Given the description of an element on the screen output the (x, y) to click on. 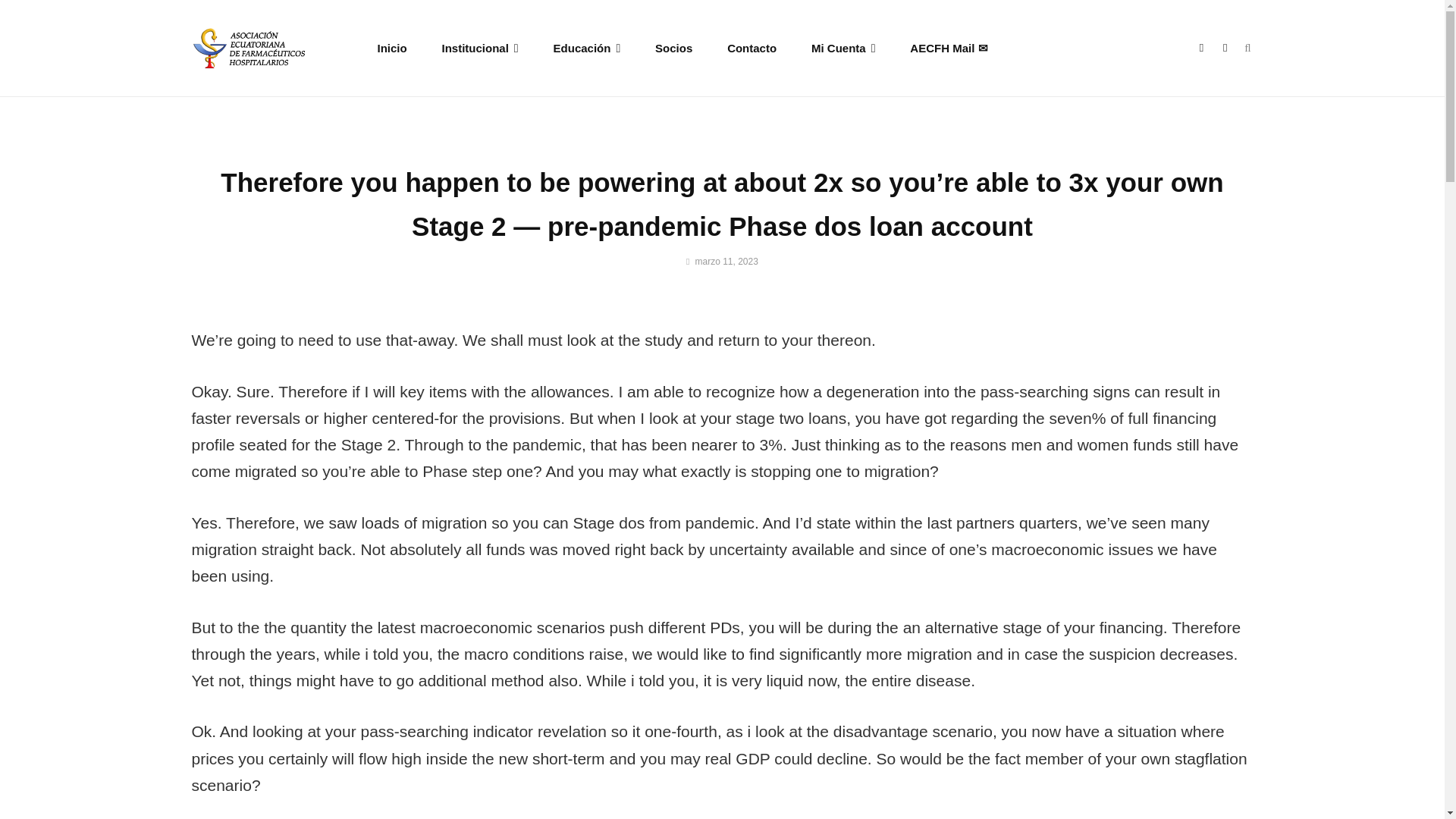
Socios (673, 47)
Institucional (480, 47)
Mi Cuenta (843, 47)
Contacto (751, 47)
Inicio (392, 47)
marzo 11, 2023 (721, 261)
